Given the description of an element on the screen output the (x, y) to click on. 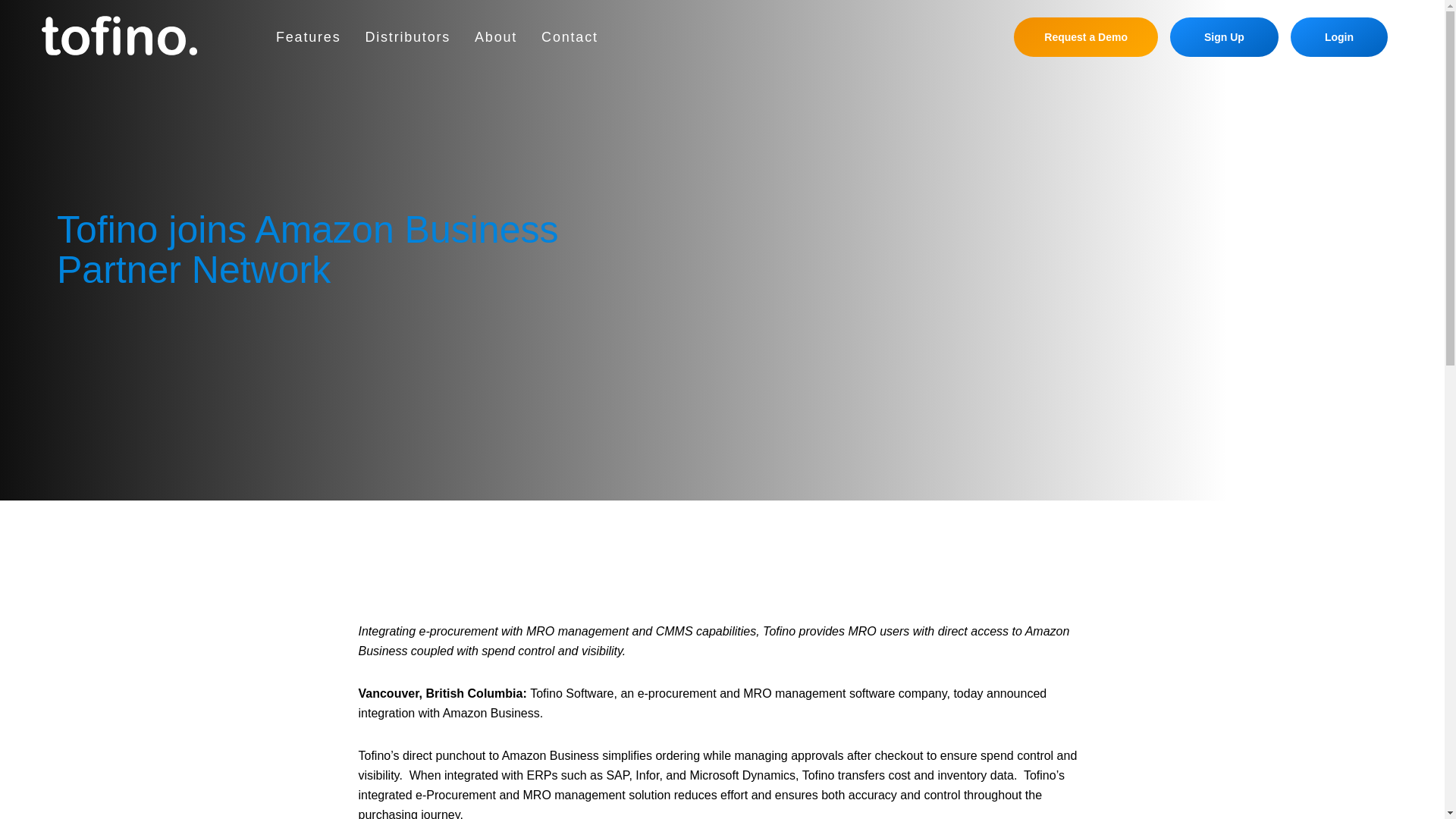
Amazon Business (550, 755)
About (495, 36)
Request a Demo (1085, 36)
Features (308, 36)
Login (1338, 36)
Sign Up (1224, 36)
Distributors (407, 36)
Contact (569, 36)
